Given the description of an element on the screen output the (x, y) to click on. 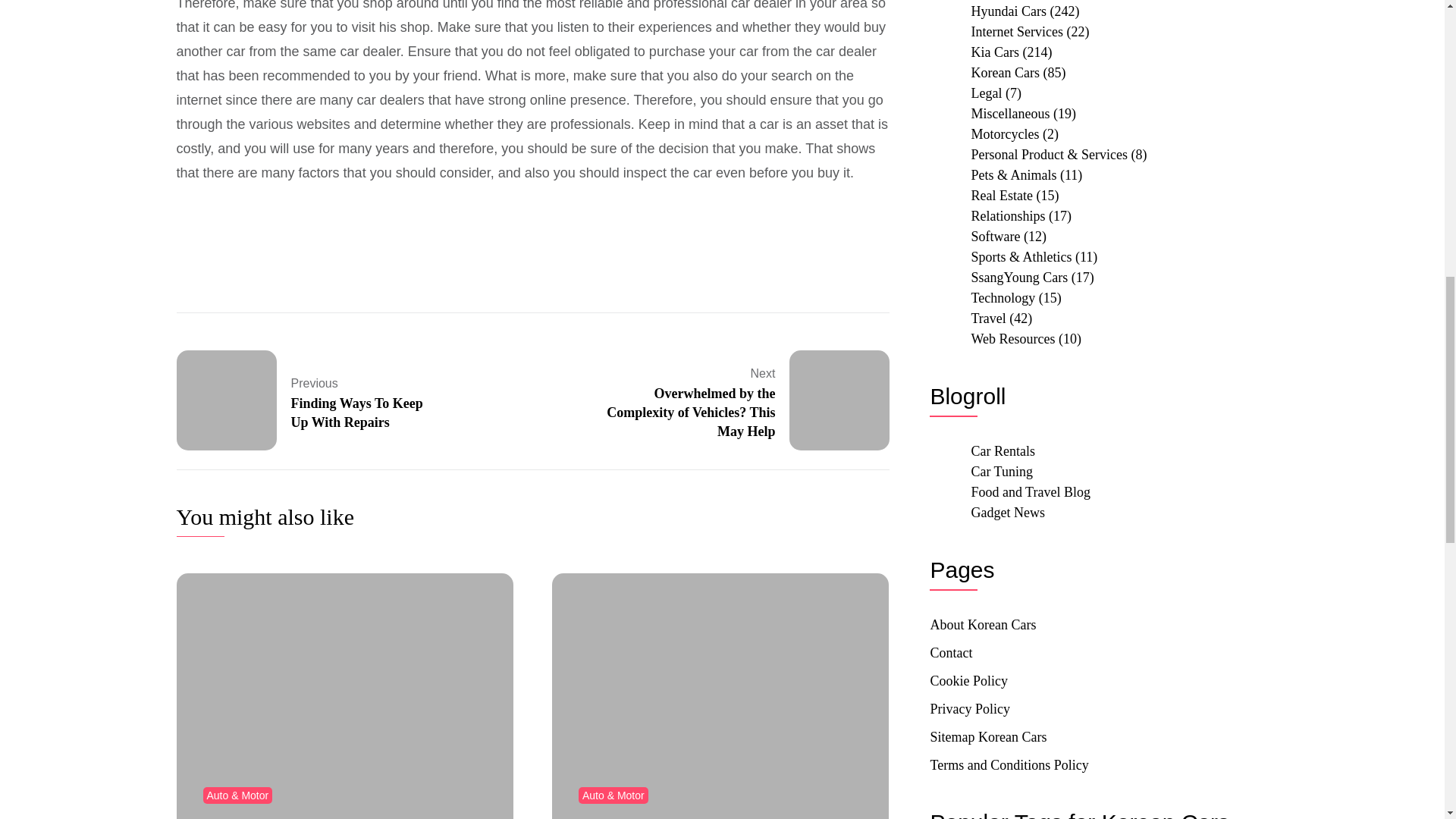
Car Tuning and Modified Car News (1001, 471)
Gadget News (1007, 512)
Food and Travel Blog (1030, 491)
Car Rentals (1002, 450)
